Given the description of an element on the screen output the (x, y) to click on. 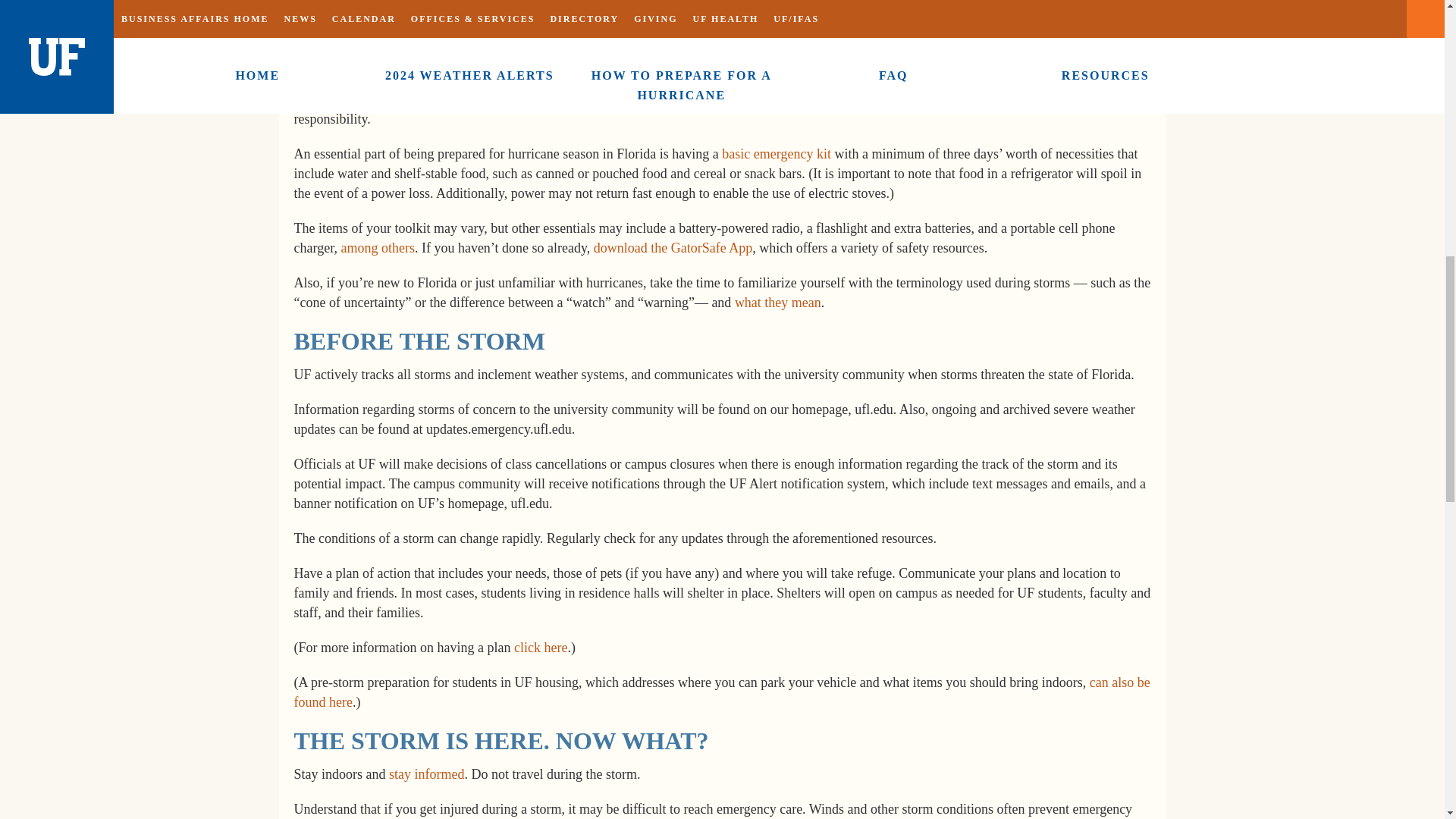
what they mean (778, 302)
can also be found here (722, 692)
basic emergency kit (776, 153)
download the GatorSafe App (673, 247)
click here (540, 647)
among others (376, 247)
stay informed (426, 774)
